Given the description of an element on the screen output the (x, y) to click on. 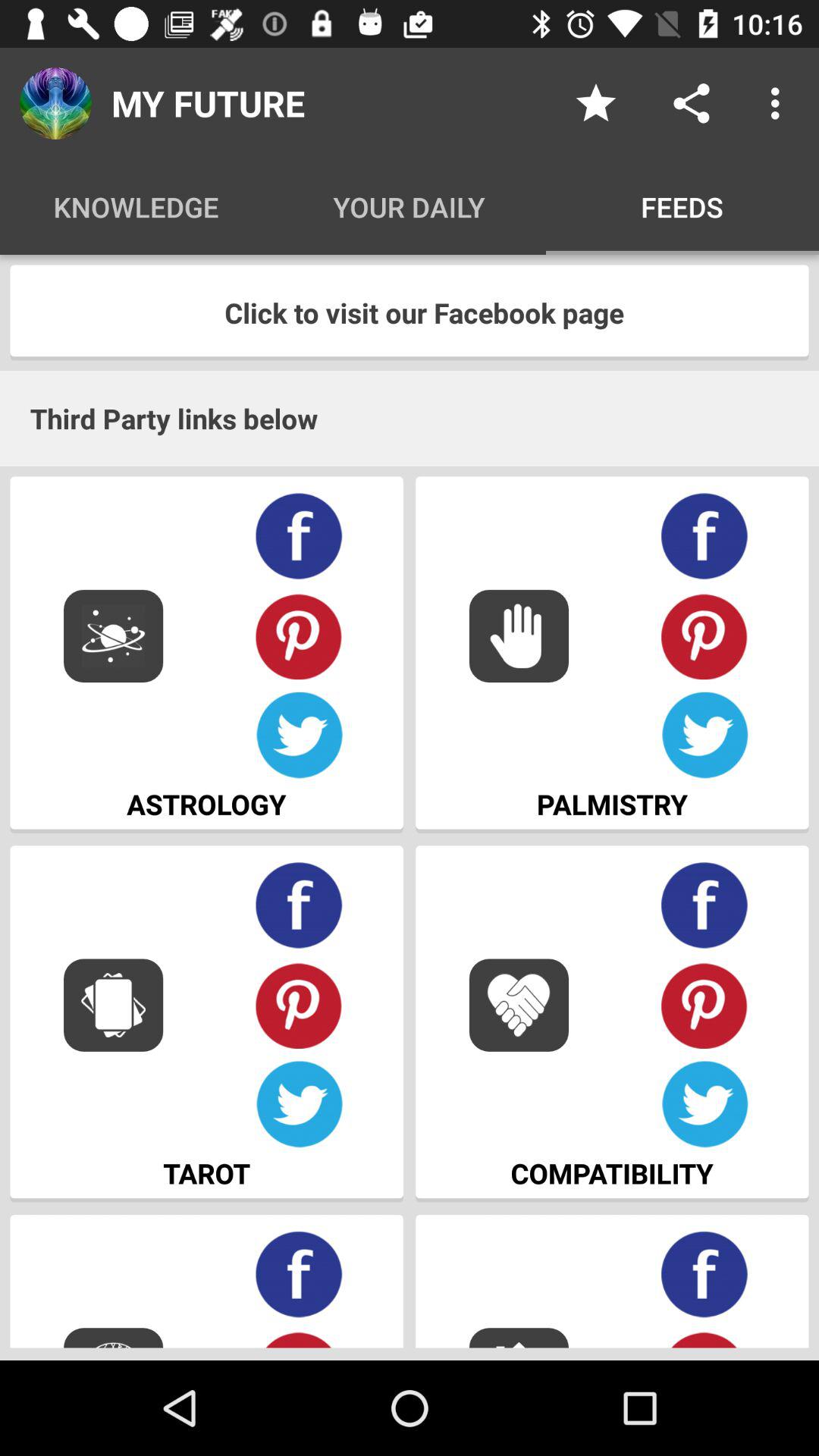
facebook (704, 1274)
